Given the description of an element on the screen output the (x, y) to click on. 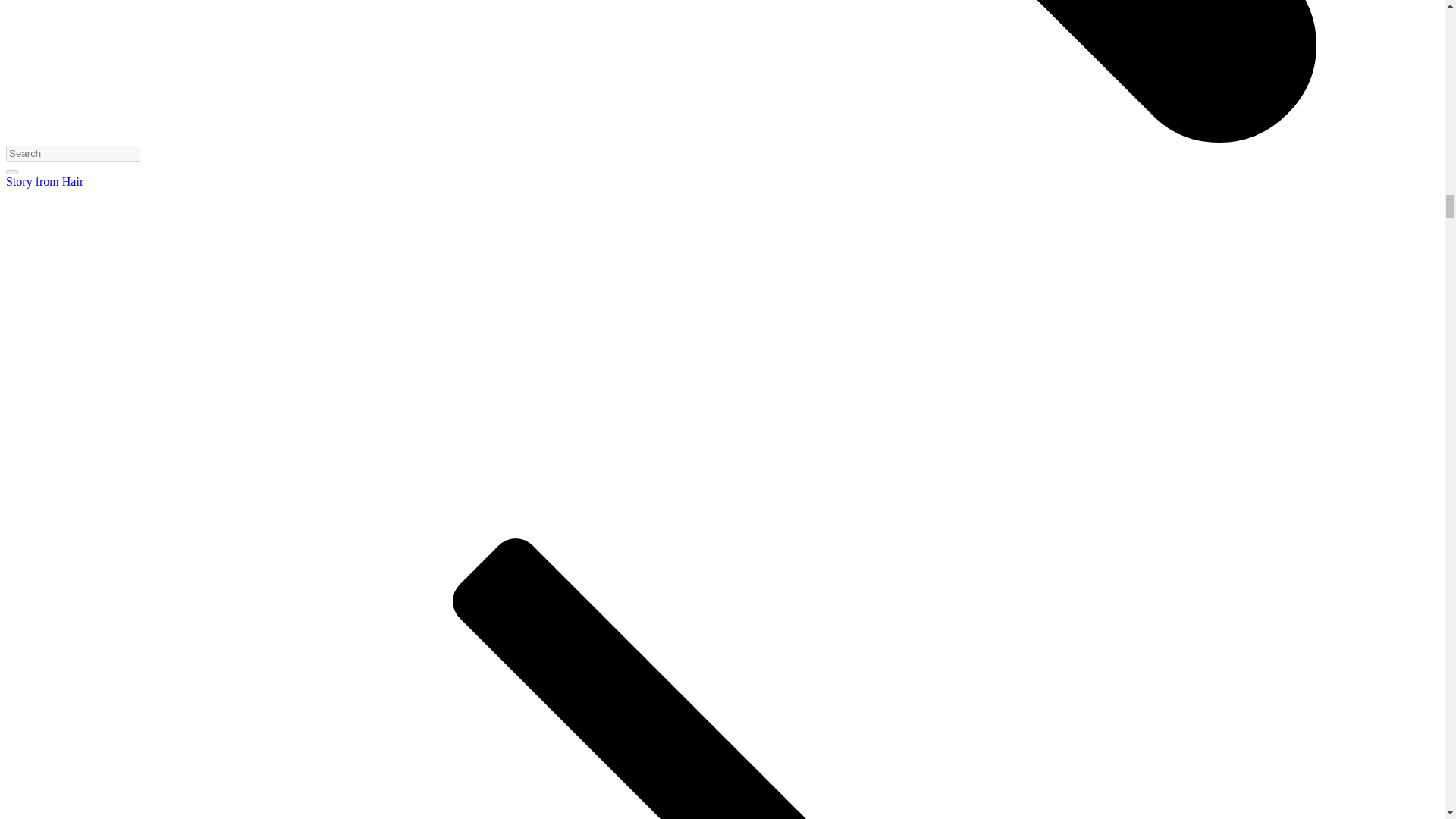
Close (11, 171)
